Given the description of an element on the screen output the (x, y) to click on. 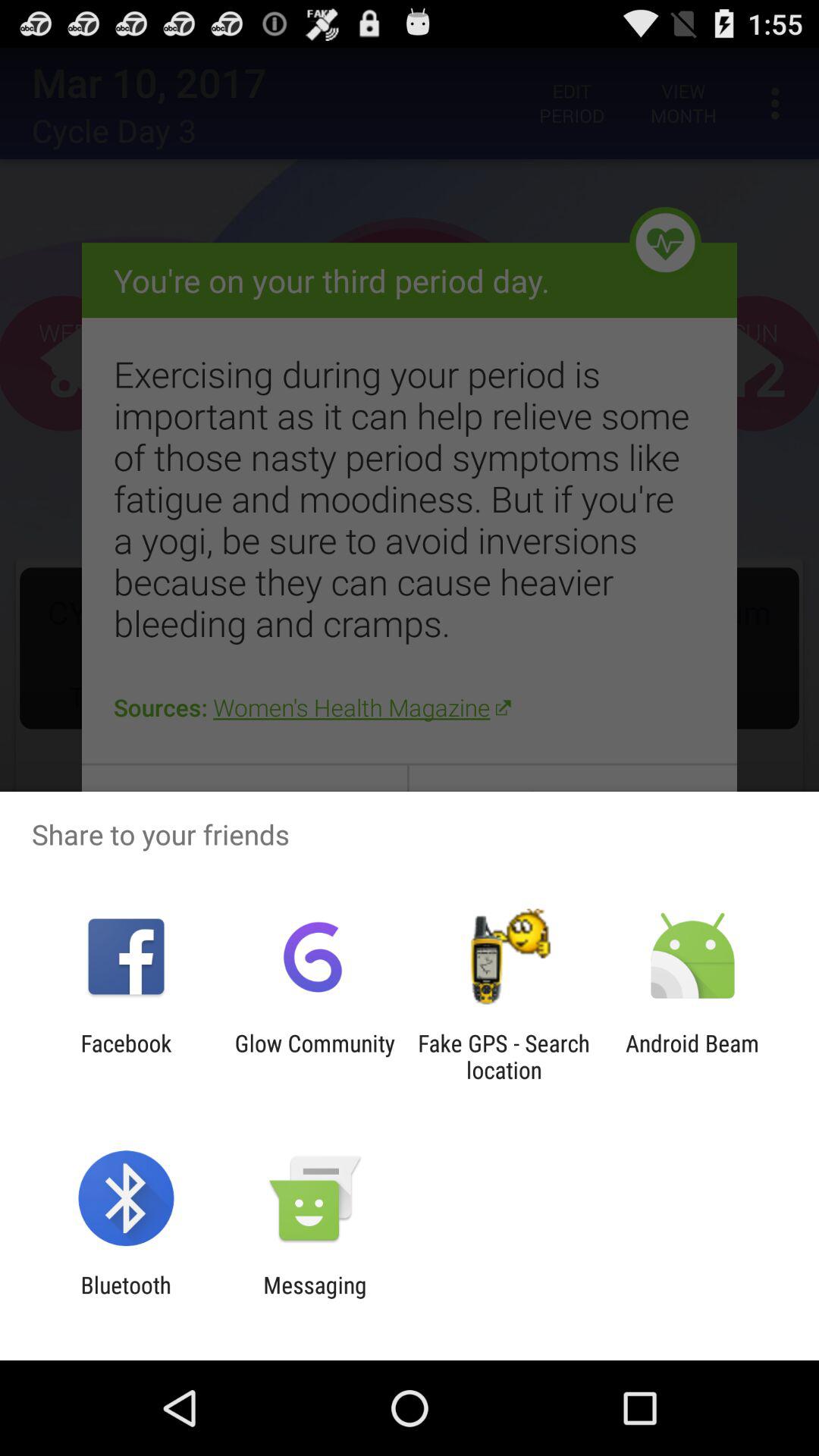
swipe until the glow community app (314, 1056)
